Given the description of an element on the screen output the (x, y) to click on. 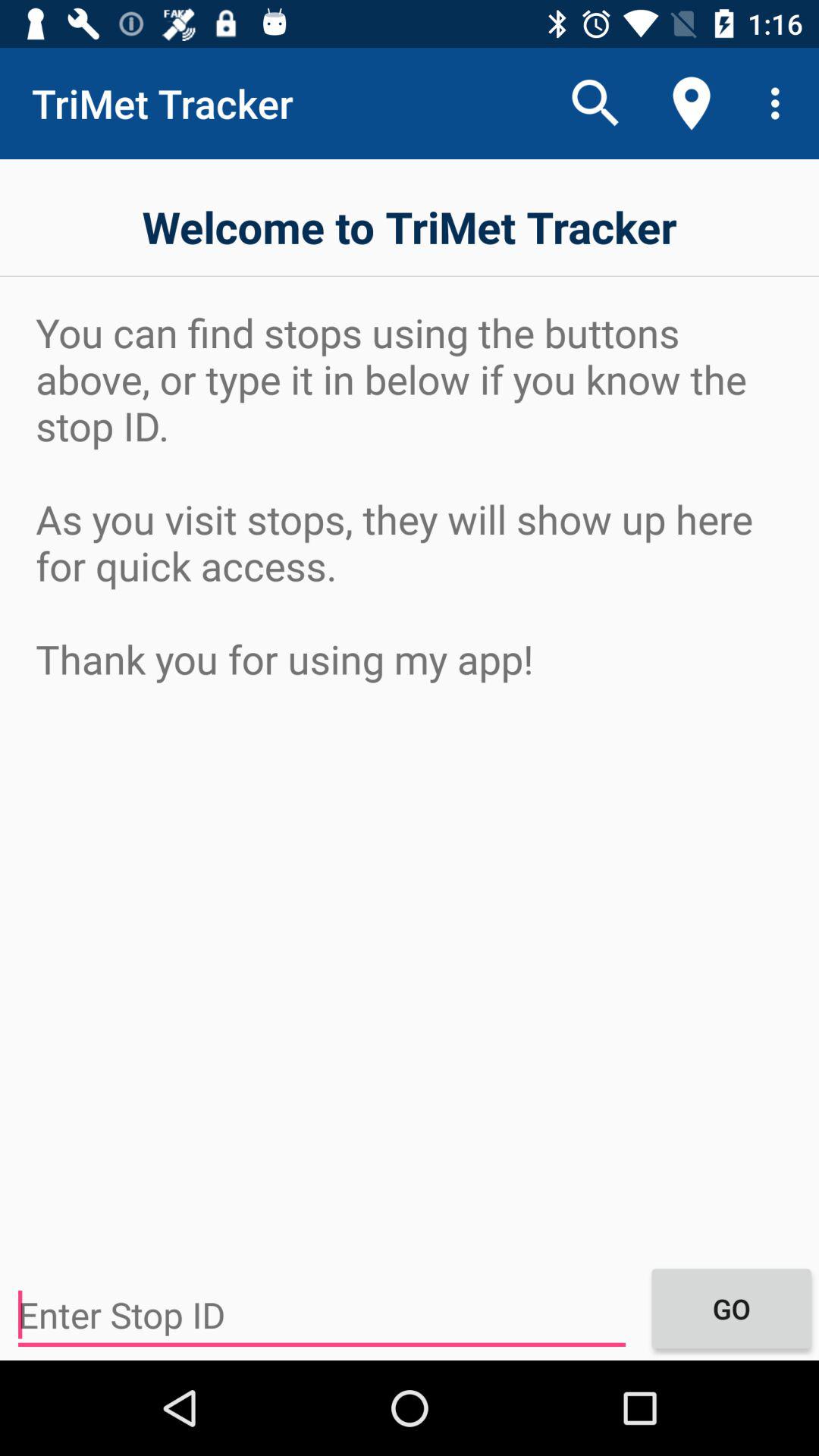
open the go at the bottom right corner (731, 1308)
